Given the description of an element on the screen output the (x, y) to click on. 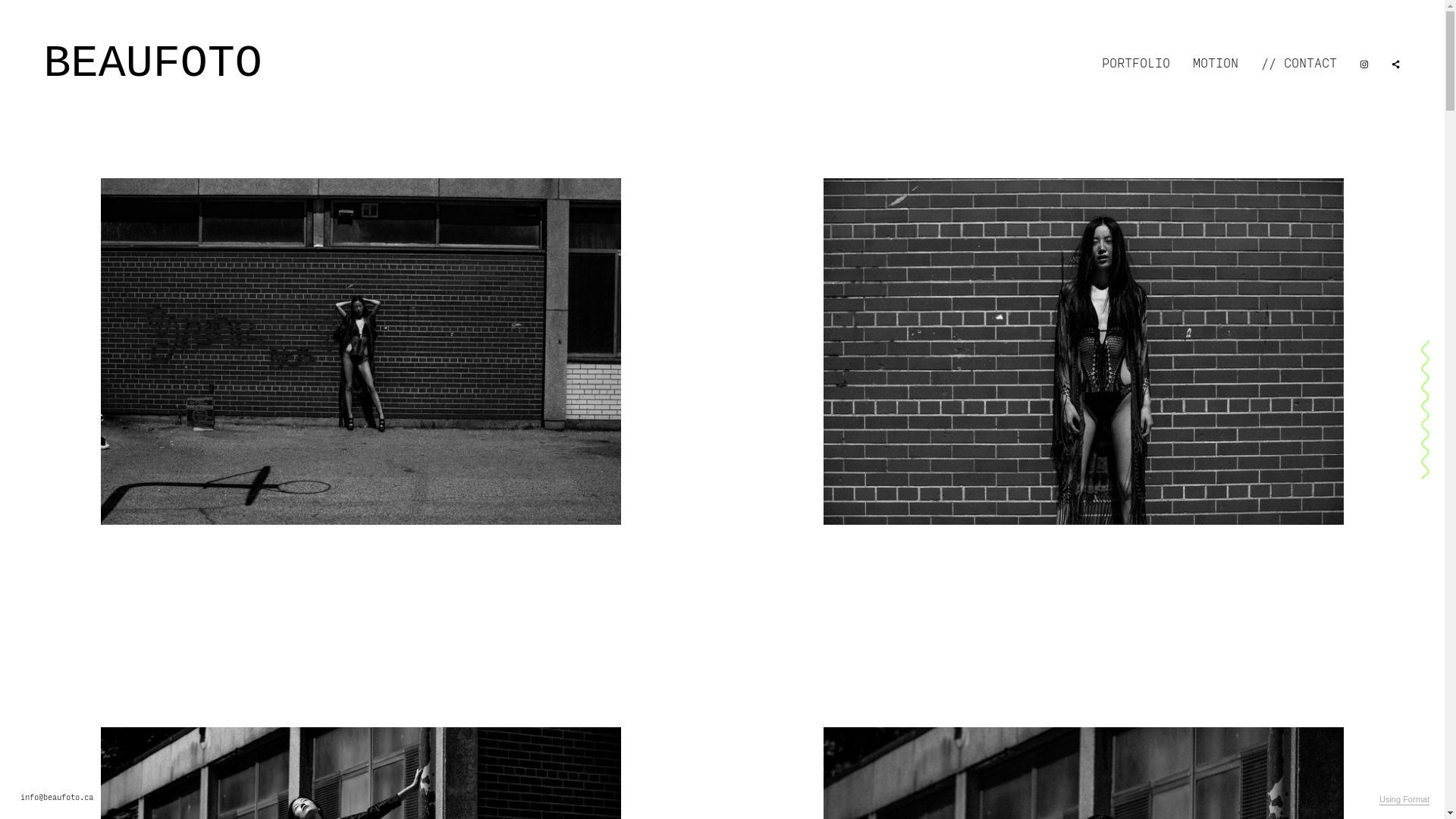
MOTION Element type: text (1215, 63)
BEAUFOTO Element type: text (152, 63)
Instagram Element type: hover (1363, 63)
Share Element type: hover (1395, 63)
// CONTACT Element type: text (1298, 63)
PORTFOLIO Element type: text (1135, 63)
Using Format Element type: text (1404, 799)
